Given the description of an element on the screen output the (x, y) to click on. 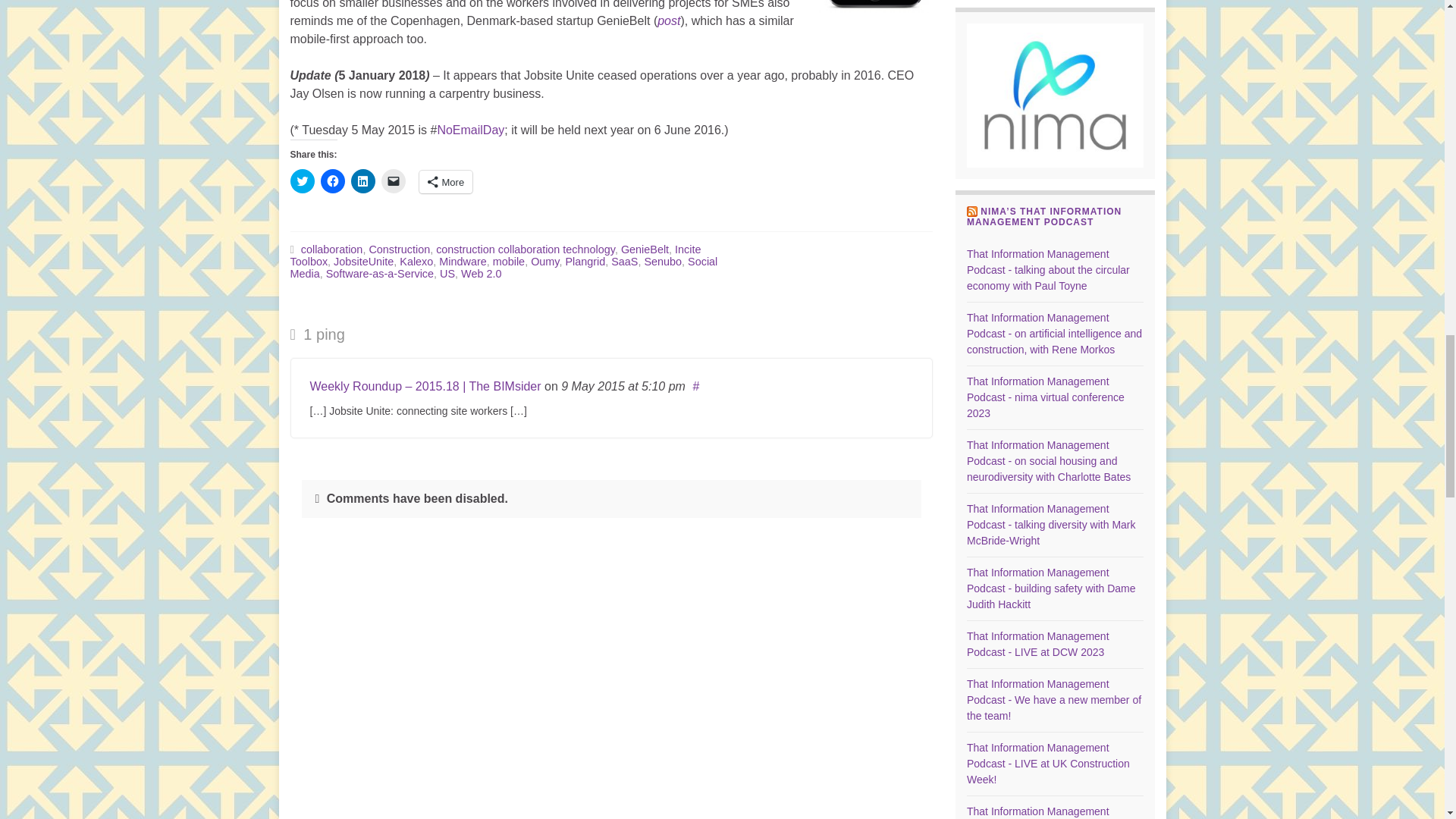
Click to share on Facebook (331, 180)
Click to share on Twitter (301, 180)
Click to email a link to a friend (392, 180)
Click to share on LinkedIn (362, 180)
